Given the description of an element on the screen output the (x, y) to click on. 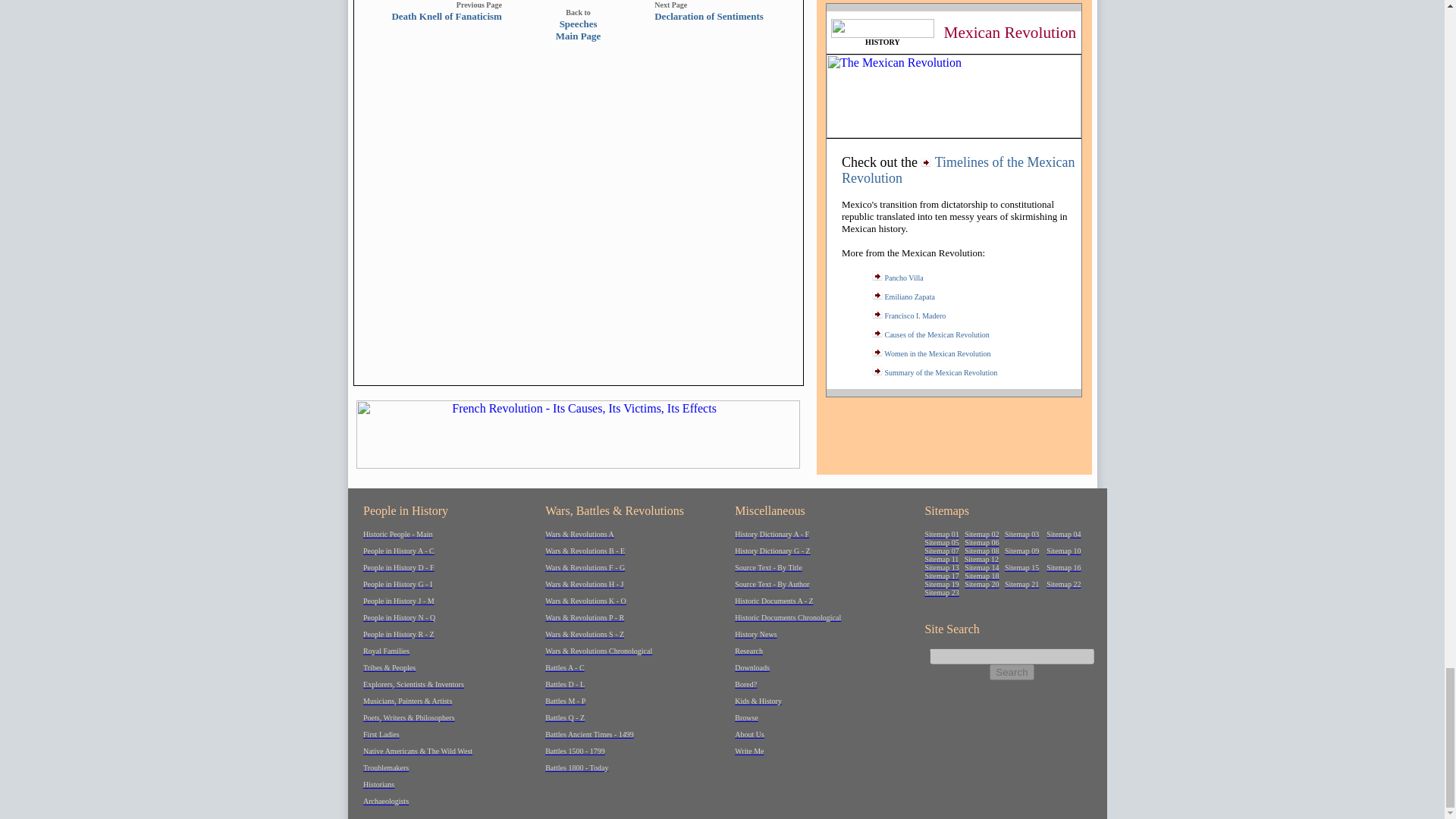
Search (1011, 672)
Death Knell of Fanaticism (578, 29)
Declaration of Sentiments (446, 15)
